Given the description of an element on the screen output the (x, y) to click on. 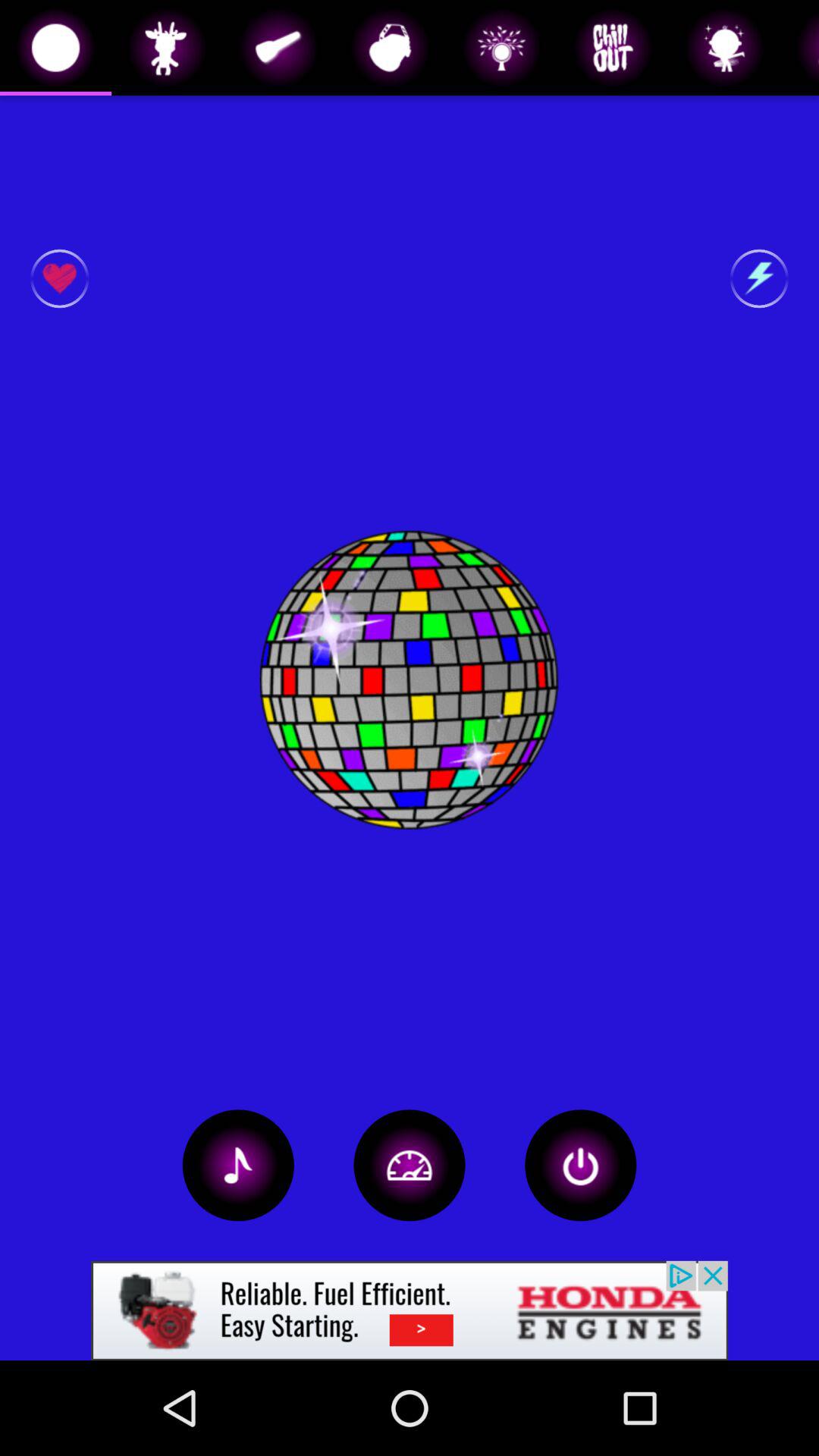
toggle favorite button (59, 278)
